Given the description of an element on the screen output the (x, y) to click on. 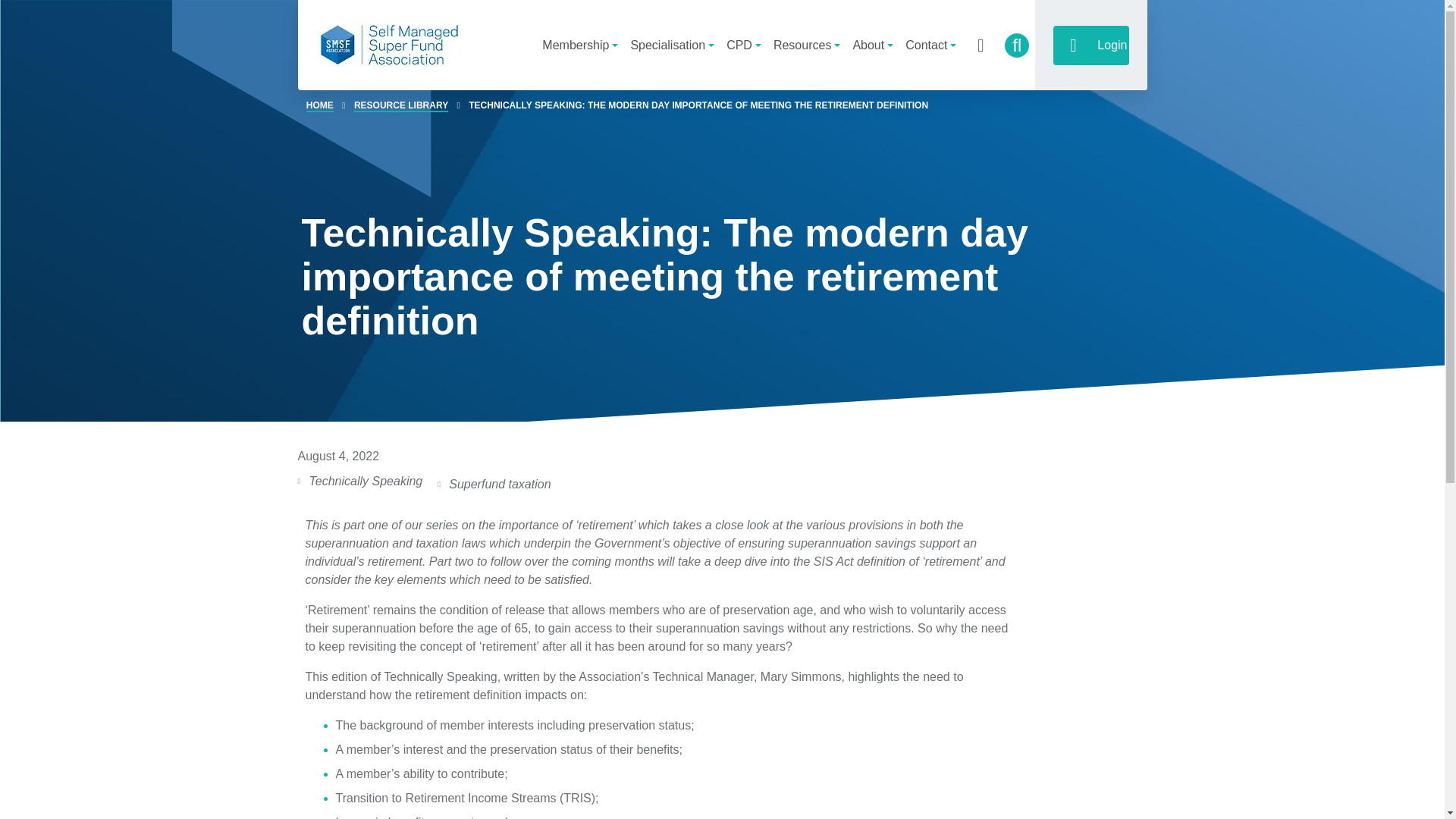
CPD (743, 45)
Membership (579, 45)
About (872, 45)
Contact (930, 45)
Specialisation (672, 45)
Resources (806, 45)
